Given the description of an element on the screen output the (x, y) to click on. 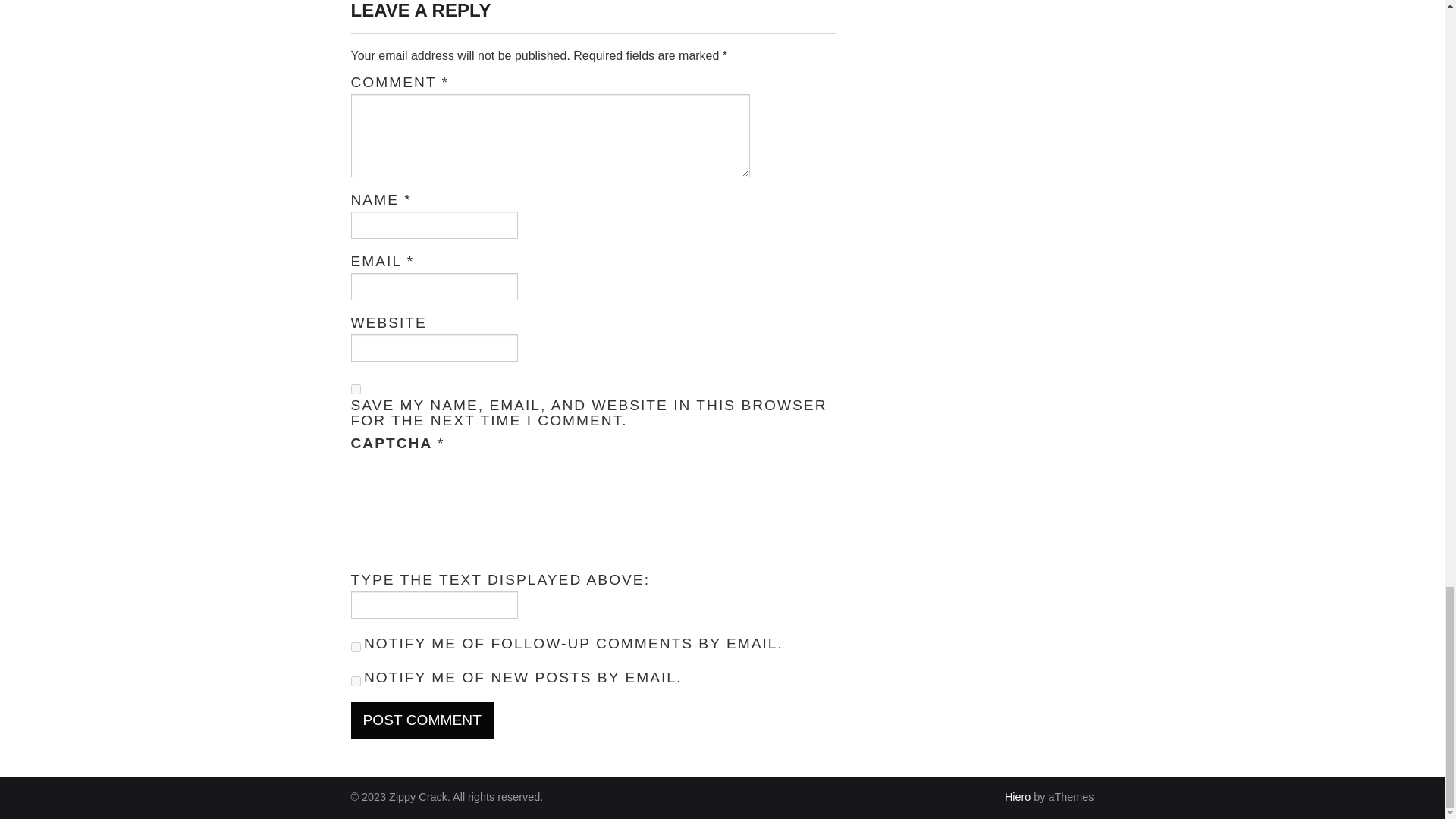
Post Comment (421, 719)
yes (354, 388)
subscribe (354, 646)
subscribe (354, 681)
Post Comment (421, 719)
